Given the description of an element on the screen output the (x, y) to click on. 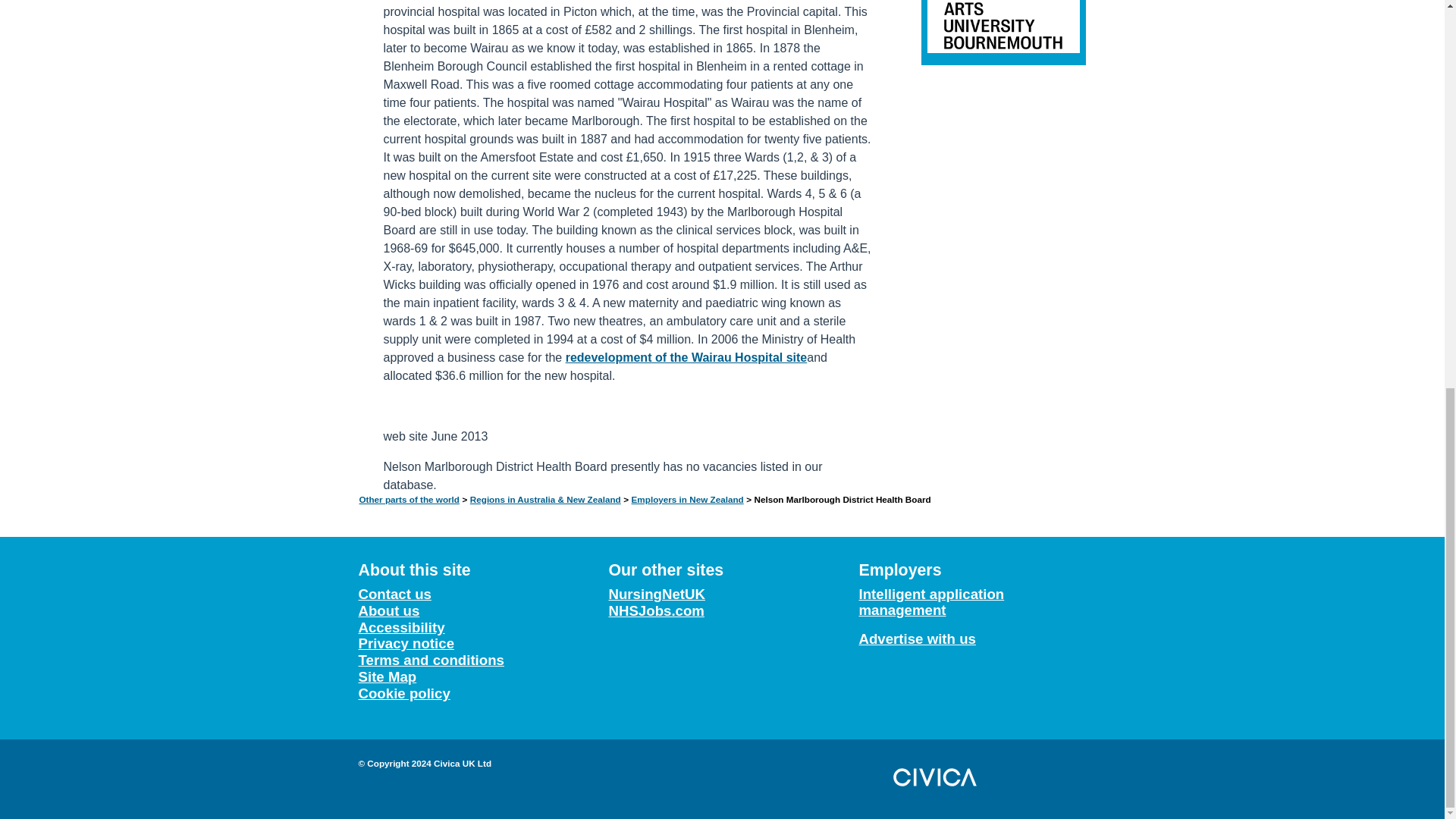
Terms and conditions (430, 660)
Advertise your vacancies on HealthJobsUK (917, 639)
Other parts of the world (409, 499)
redevelopment of the Wairau Hospital site (687, 357)
Go back to Employers in New Zealand (687, 499)
NursingNetUK (656, 594)
NursingNetUK (656, 594)
Privacy notice (406, 643)
Advertise with us (917, 639)
Our privacy notice (406, 643)
